Given the description of an element on the screen output the (x, y) to click on. 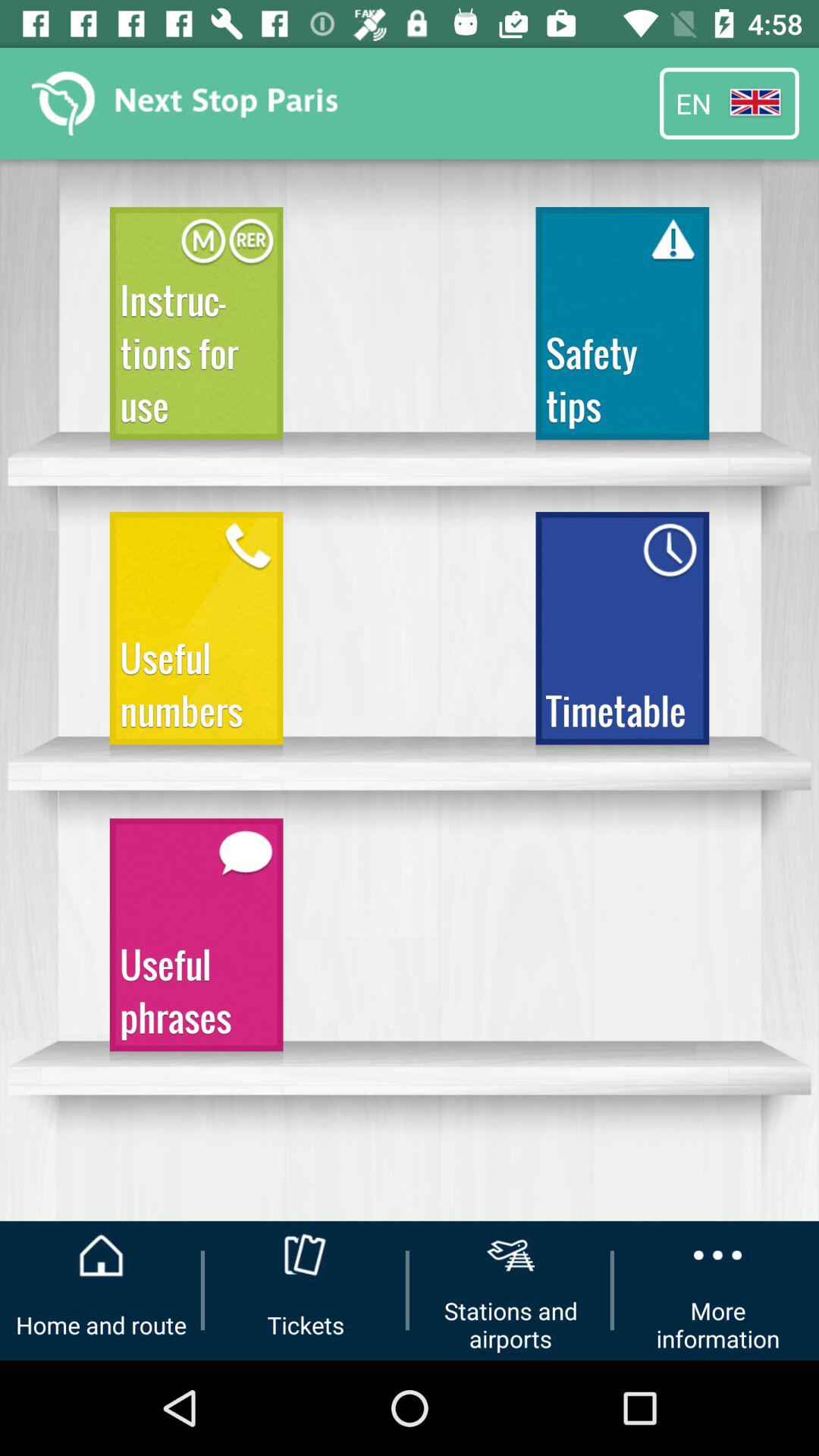
click the home icon bottom left corner (100, 1255)
click on the timetable below safety tips (622, 635)
click on the icon above stations and airports which is at bottom of the page (510, 1255)
click on the title of the page (188, 103)
click the tickets icon (305, 1255)
click on the yellow color button (196, 635)
